Given the description of an element on the screen output the (x, y) to click on. 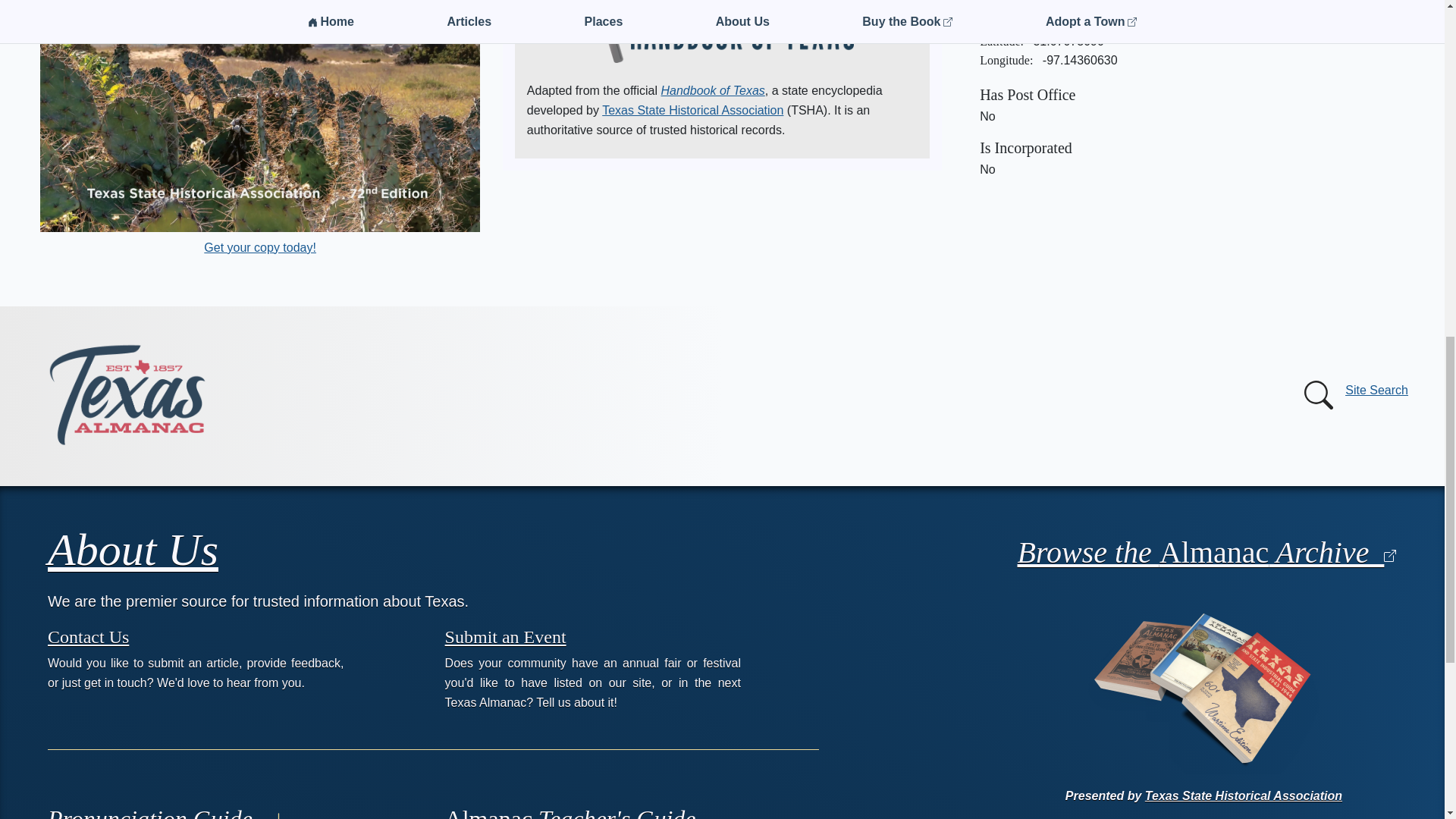
Submit an Event (505, 636)
Site Search (1352, 394)
Handbook of Texas (713, 90)
Pronunciation Guide (167, 812)
About Us (133, 549)
Texas State Historical Association (692, 110)
Almanac Teacher's Guide (570, 812)
Contact Us (88, 636)
Get your copy today! (259, 246)
